Given the description of an element on the screen output the (x, y) to click on. 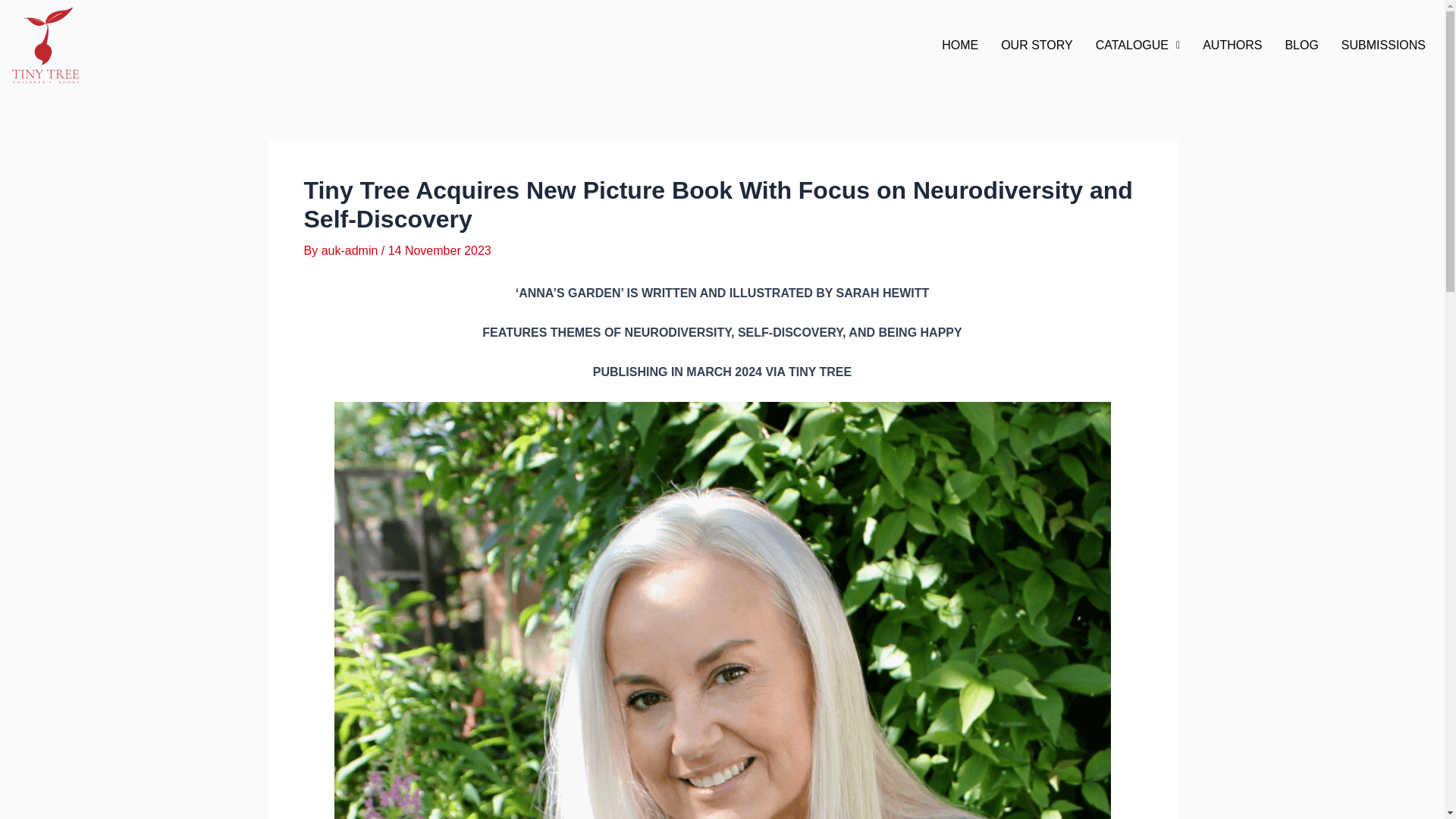
BLOG (1300, 45)
HOME (960, 45)
OUR STORY (1037, 45)
auk-admin (351, 250)
View all posts by auk-admin (351, 250)
SUBMISSIONS (1383, 45)
AUTHORS (1231, 45)
CATALOGUE (1137, 45)
